Given the description of an element on the screen output the (x, y) to click on. 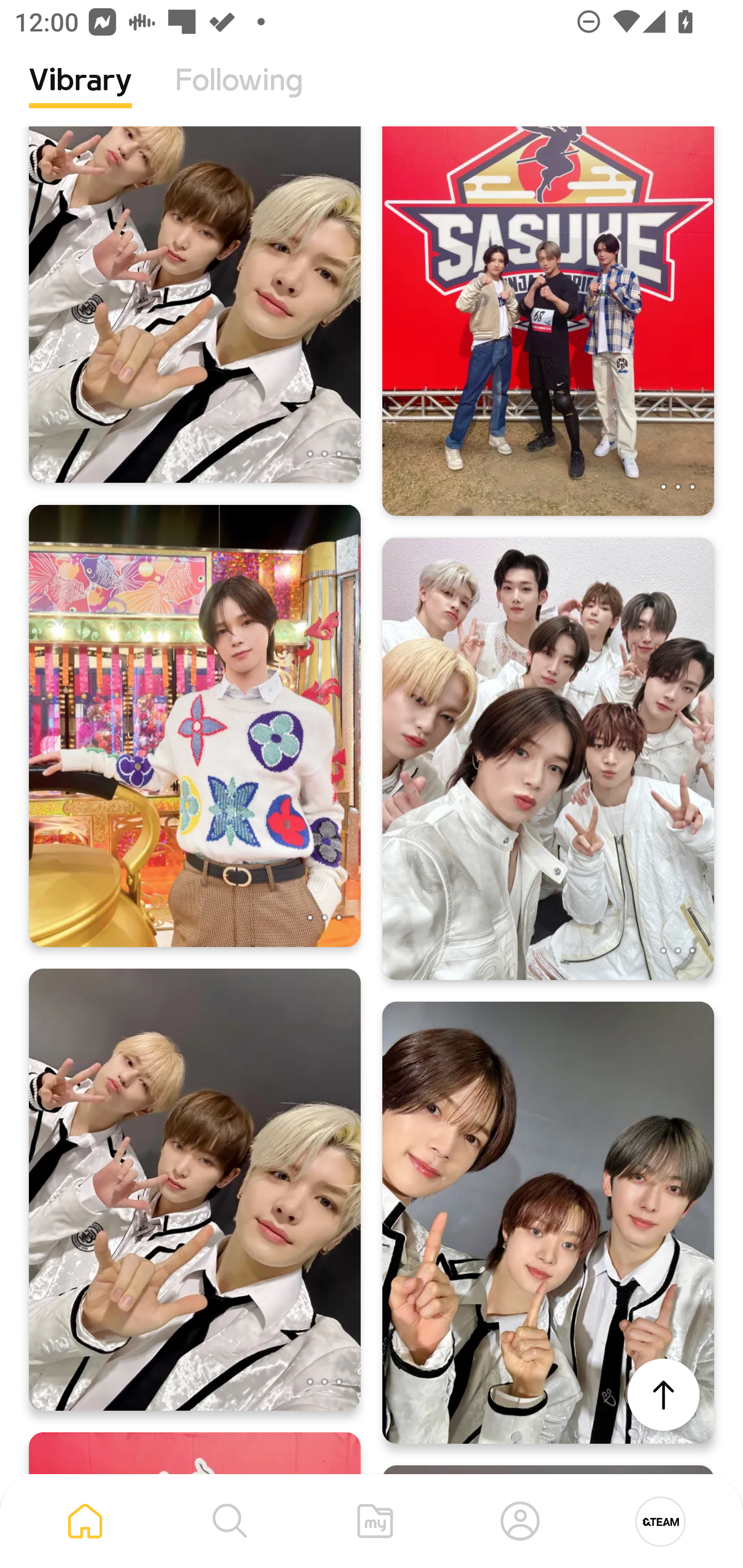
Vibrary (80, 95)
Following (239, 95)
